Given the description of an element on the screen output the (x, y) to click on. 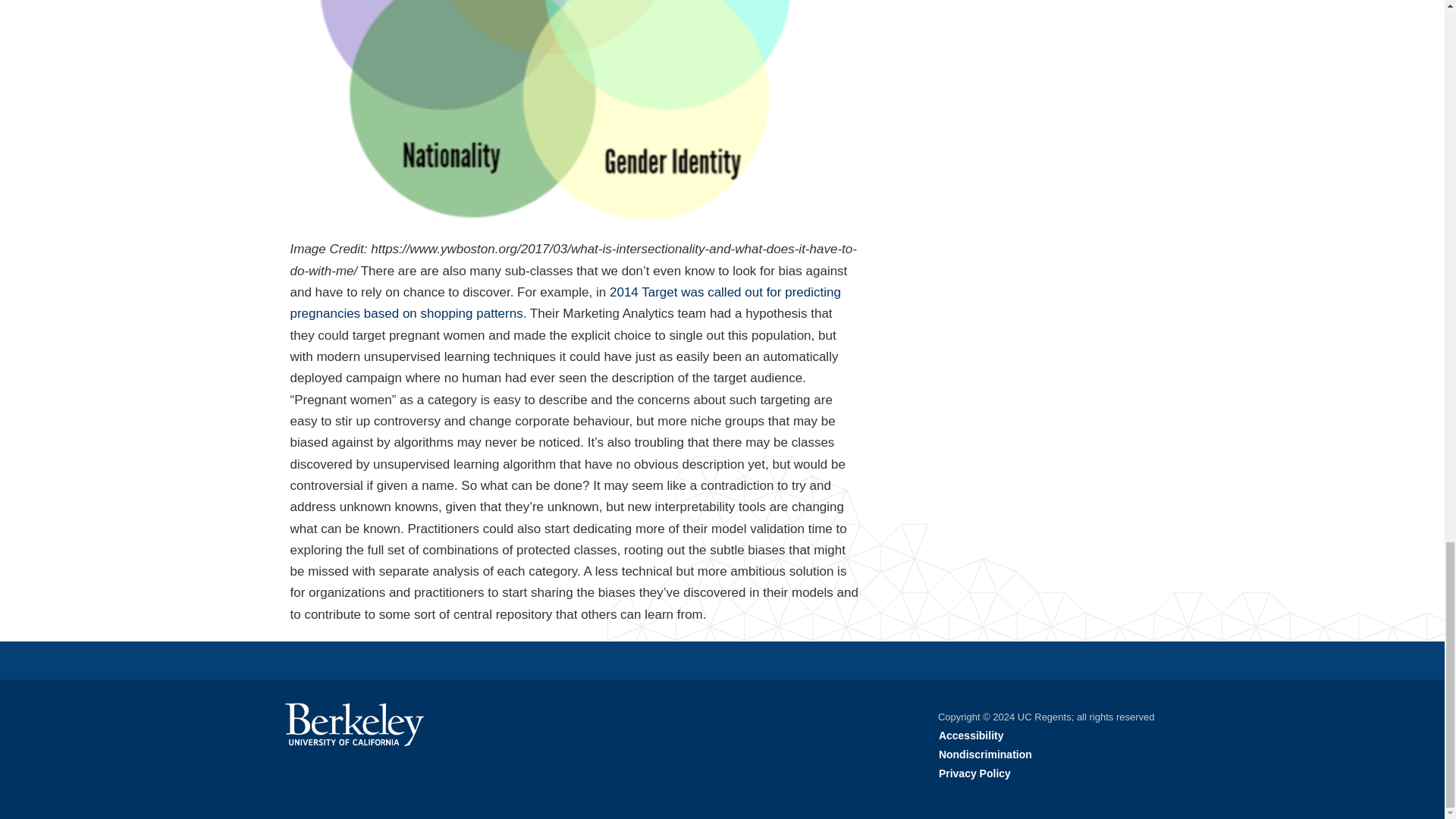
Nondiscrimination (985, 754)
Accessibility (971, 735)
Privacy Policy (974, 773)
